Given the description of an element on the screen output the (x, y) to click on. 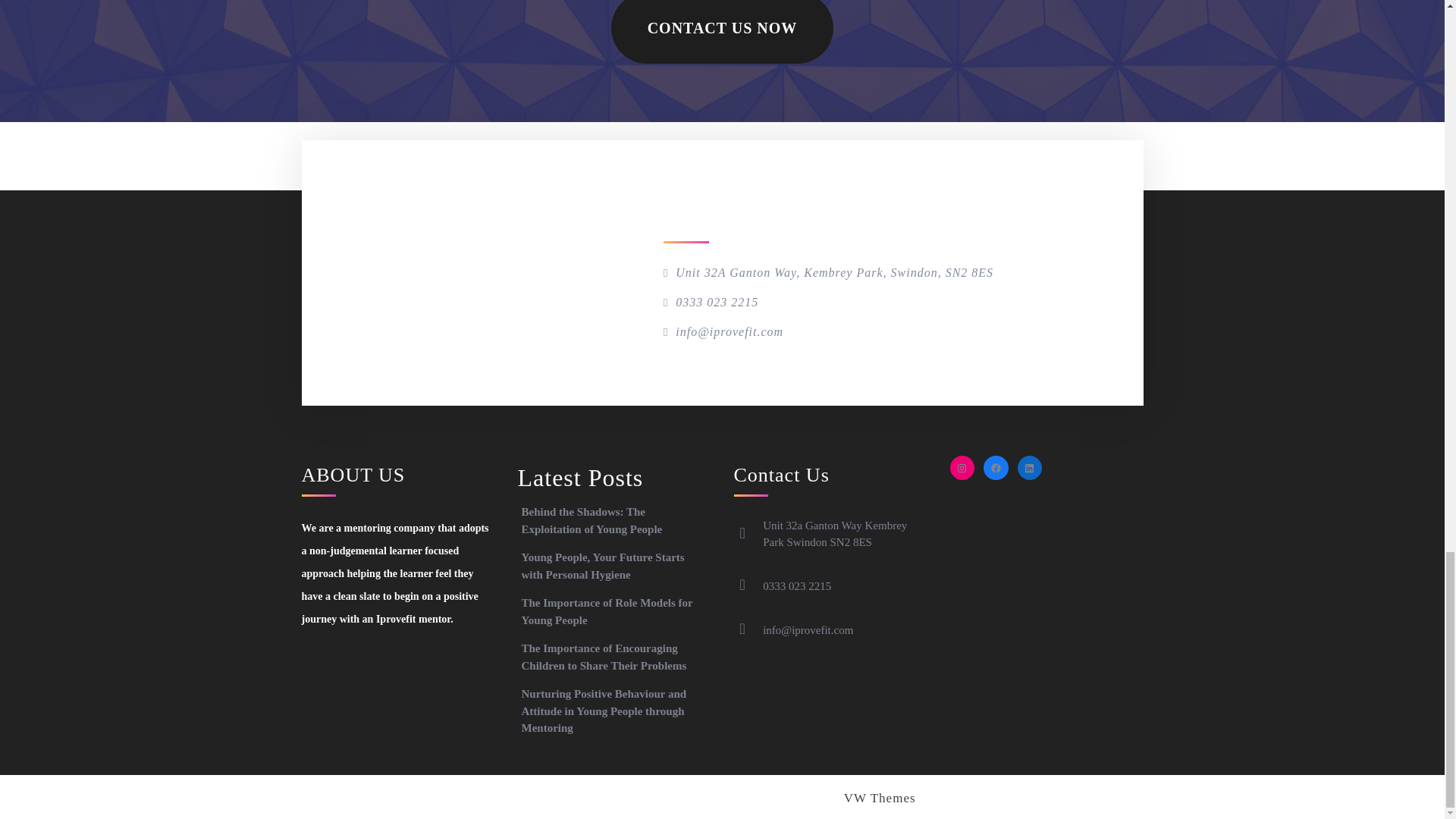
Behind the Shadows: The Exploitation of Young People (591, 520)
The Importance of Role Models for Young People (607, 611)
VW Themes (877, 798)
CONTACT US NOW (722, 31)
Young People, Your Future Starts with Personal Hygiene (602, 565)
